Given the description of an element on the screen output the (x, y) to click on. 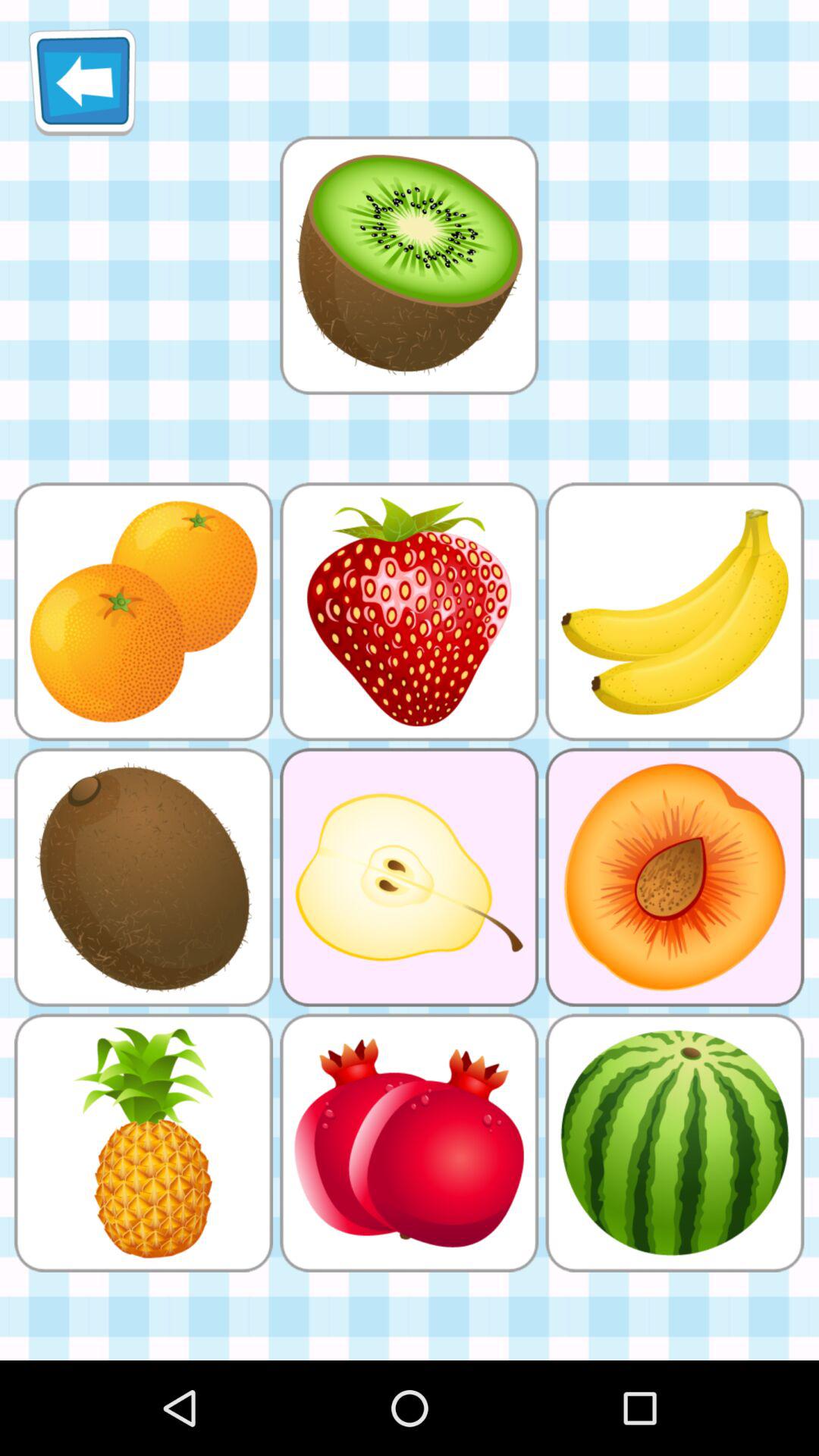
go to kiwi image (409, 265)
